Given the description of an element on the screen output the (x, y) to click on. 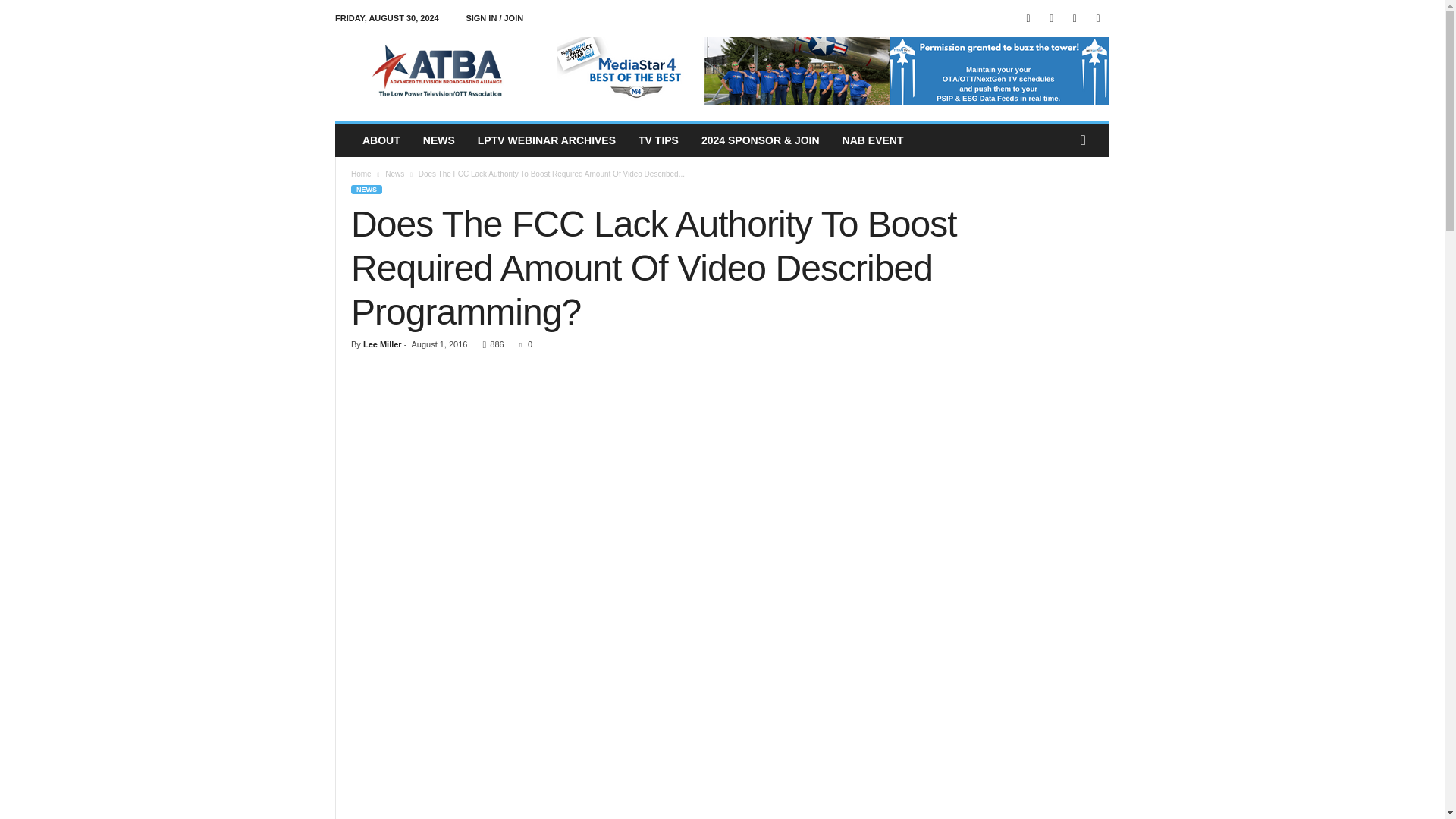
TV TIPS (658, 140)
NAB EVENT (873, 140)
Broadcasting Alliance (437, 70)
ABOUT (381, 140)
LPTV WEBINAR ARCHIVES (546, 140)
View all posts in News (394, 173)
NEWS (438, 140)
